Given the description of an element on the screen output the (x, y) to click on. 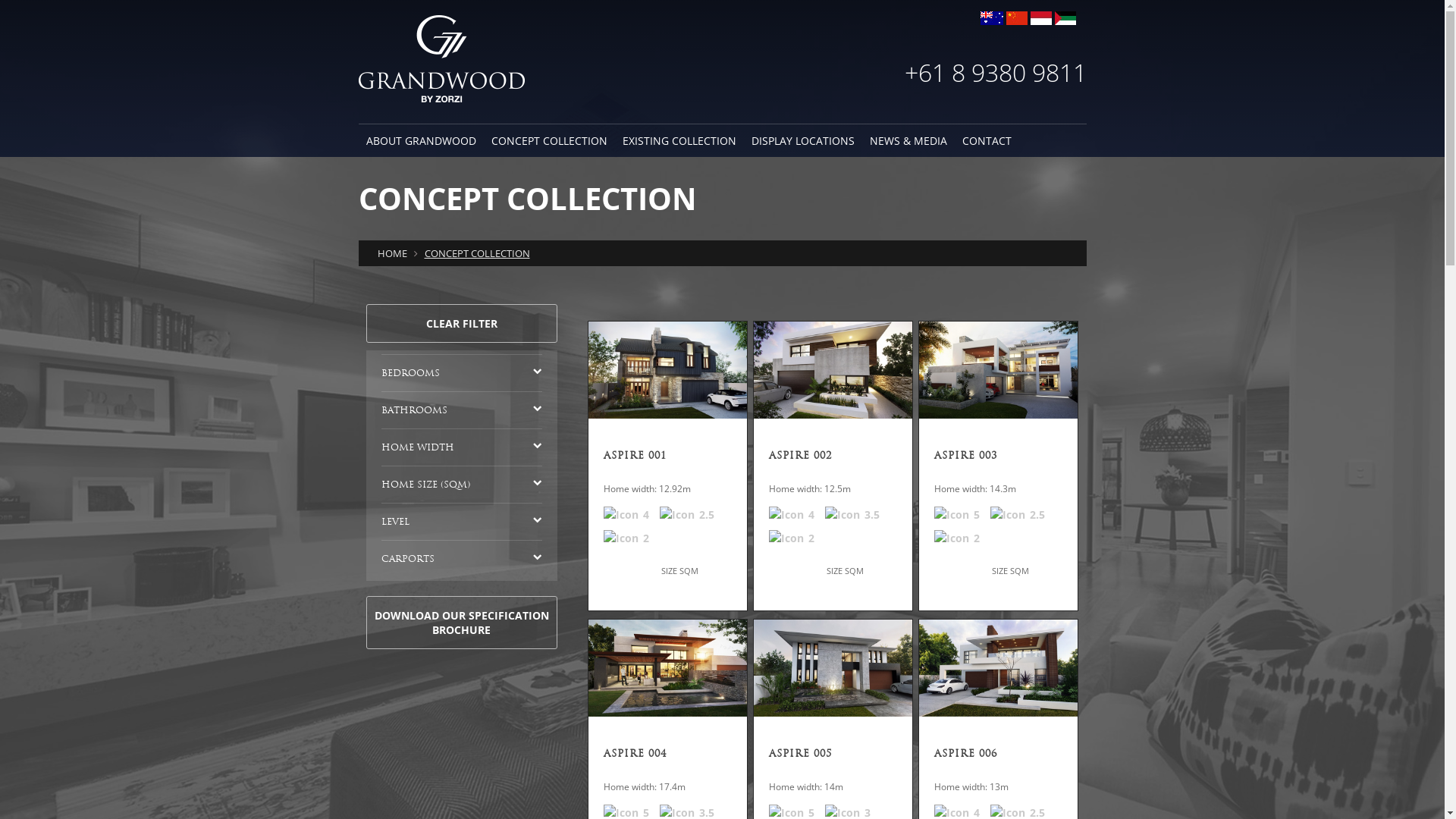
VIEW Element type: text (959, 575)
Grandwood Homes Element type: hover (440, 58)
ASPIRE 004 Element type: text (667, 755)
HOME Element type: text (395, 252)
CONCEPT COLLECTION Element type: text (474, 252)
DOWNLOAD OUR SPECIFICATION BROCHURE Element type: text (460, 622)
Flag Element type: hover (1015, 18)
Flag Element type: hover (1064, 18)
VIEW Element type: text (793, 575)
+61 8 9380 9811 Element type: text (907, 72)
CLEAR FILTER Element type: text (460, 323)
Flag Element type: hover (990, 18)
ASPIRE 005 Element type: text (832, 755)
ASPIRE 002 Element type: text (832, 457)
ASPIRE 003 Element type: text (998, 457)
ABOUT GRANDWOOD Element type: text (420, 140)
ASPIRE 006 Element type: text (998, 755)
ASPIRE 001 Element type: text (667, 457)
EXISTING COLLECTION Element type: text (678, 140)
CONTACT Element type: text (985, 140)
Flag Element type: hover (1040, 18)
DISPLAY LOCATIONS Element type: text (802, 140)
CONCEPT COLLECTION Element type: text (549, 140)
VIEW Element type: text (628, 575)
NEWS & MEDIA Element type: text (907, 140)
